Given the description of an element on the screen output the (x, y) to click on. 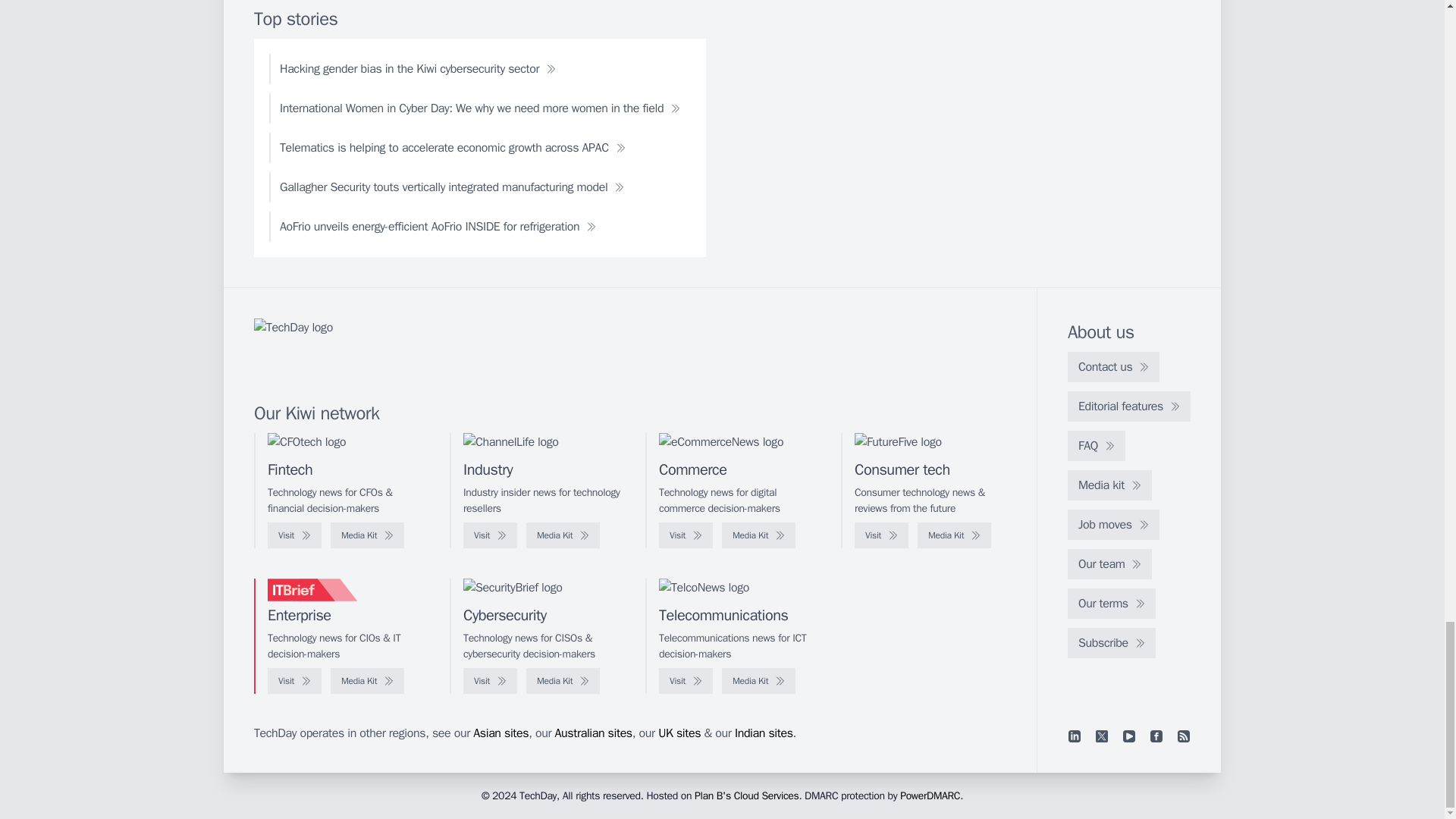
Visit (294, 534)
Media Kit (954, 534)
Visit (881, 534)
Visit (489, 534)
Media Kit (367, 534)
Media Kit (758, 534)
Hacking gender bias in the Kiwi cybersecurity sector (417, 69)
